Given the description of an element on the screen output the (x, y) to click on. 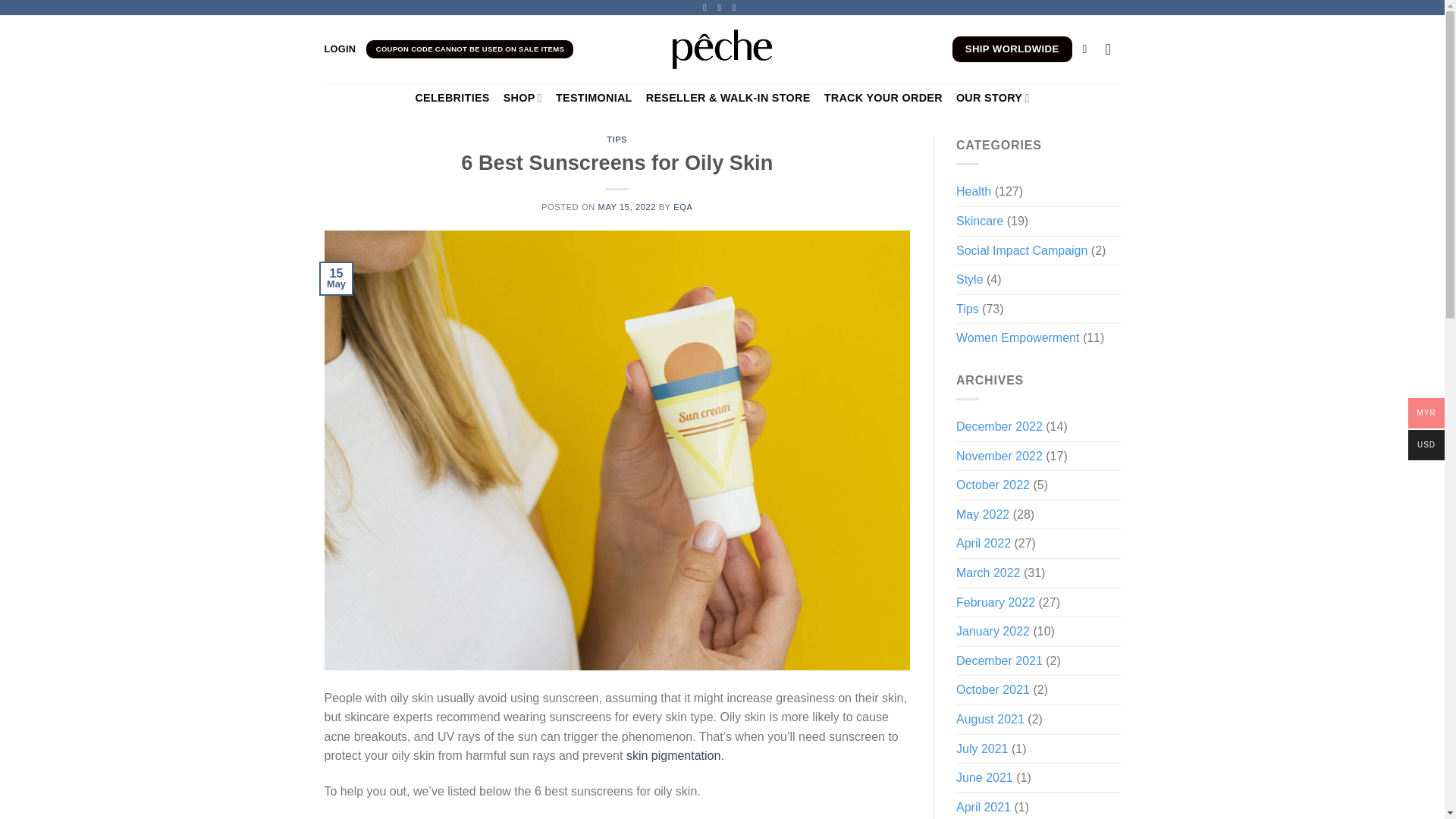
SHIP WORLDWIDE (1011, 49)
CELEBRITIES (451, 98)
EQA (682, 206)
COUPON CODE CANNOT BE USED ON SALE ITEMS (469, 49)
SHOP (522, 98)
PECHE - Empowering The Love Within Yourself (721, 48)
TRACK YOUR ORDER (883, 98)
MAY 15, 2022 (626, 206)
LOGIN (340, 49)
OUR STORY (992, 98)
skin pigmentation (673, 755)
TESTIMONIAL (593, 98)
TIPS (617, 139)
